Given the description of an element on the screen output the (x, y) to click on. 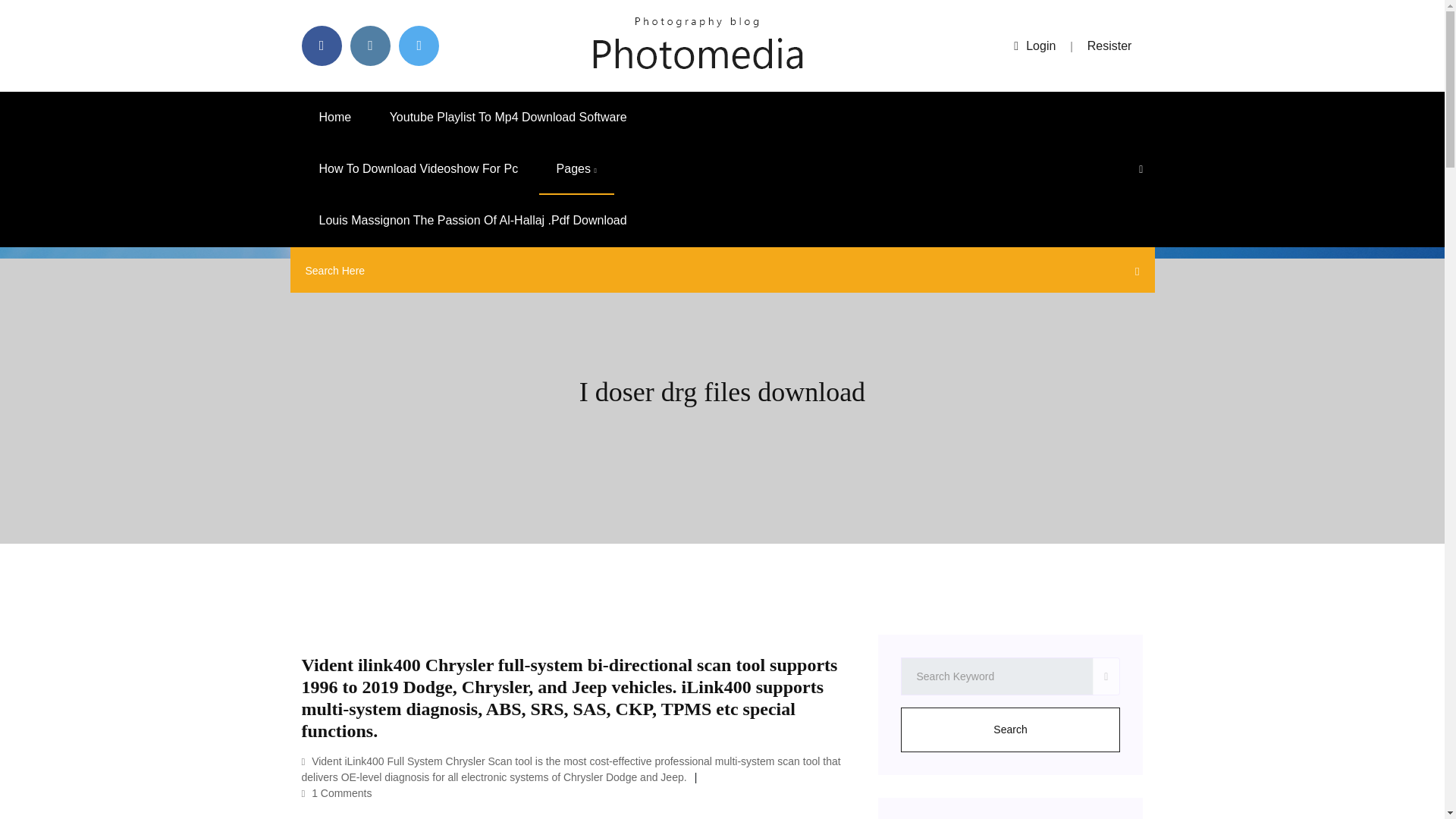
Home (335, 117)
1 Comments (336, 793)
Resister (1109, 45)
Login (1034, 45)
Pages (576, 168)
How To Download Videoshow For Pc (418, 168)
Youtube Playlist To Mp4 Download Software (508, 117)
Louis Massignon The Passion Of Al-Hallaj .Pdf Download (473, 220)
